Given the description of an element on the screen output the (x, y) to click on. 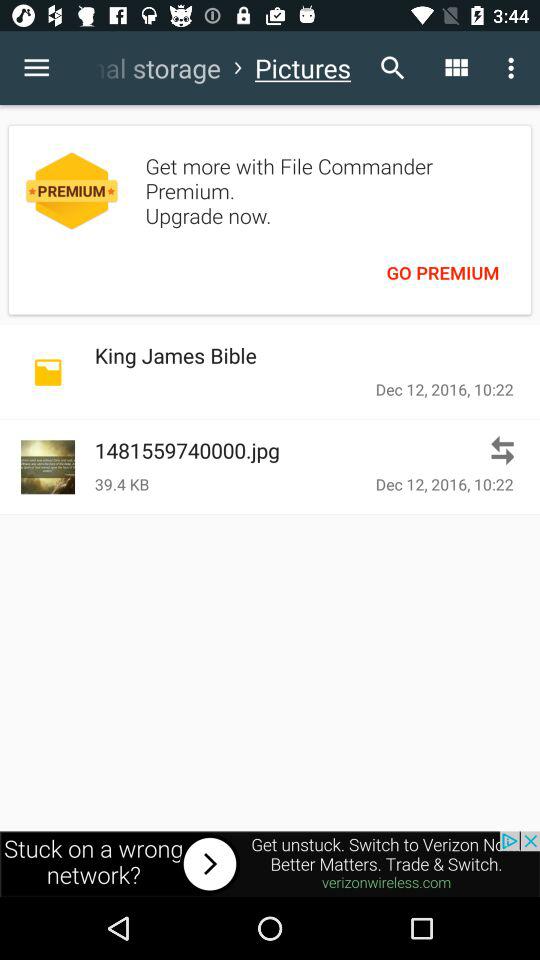
go to advertising site (270, 864)
